Given the description of an element on the screen output the (x, y) to click on. 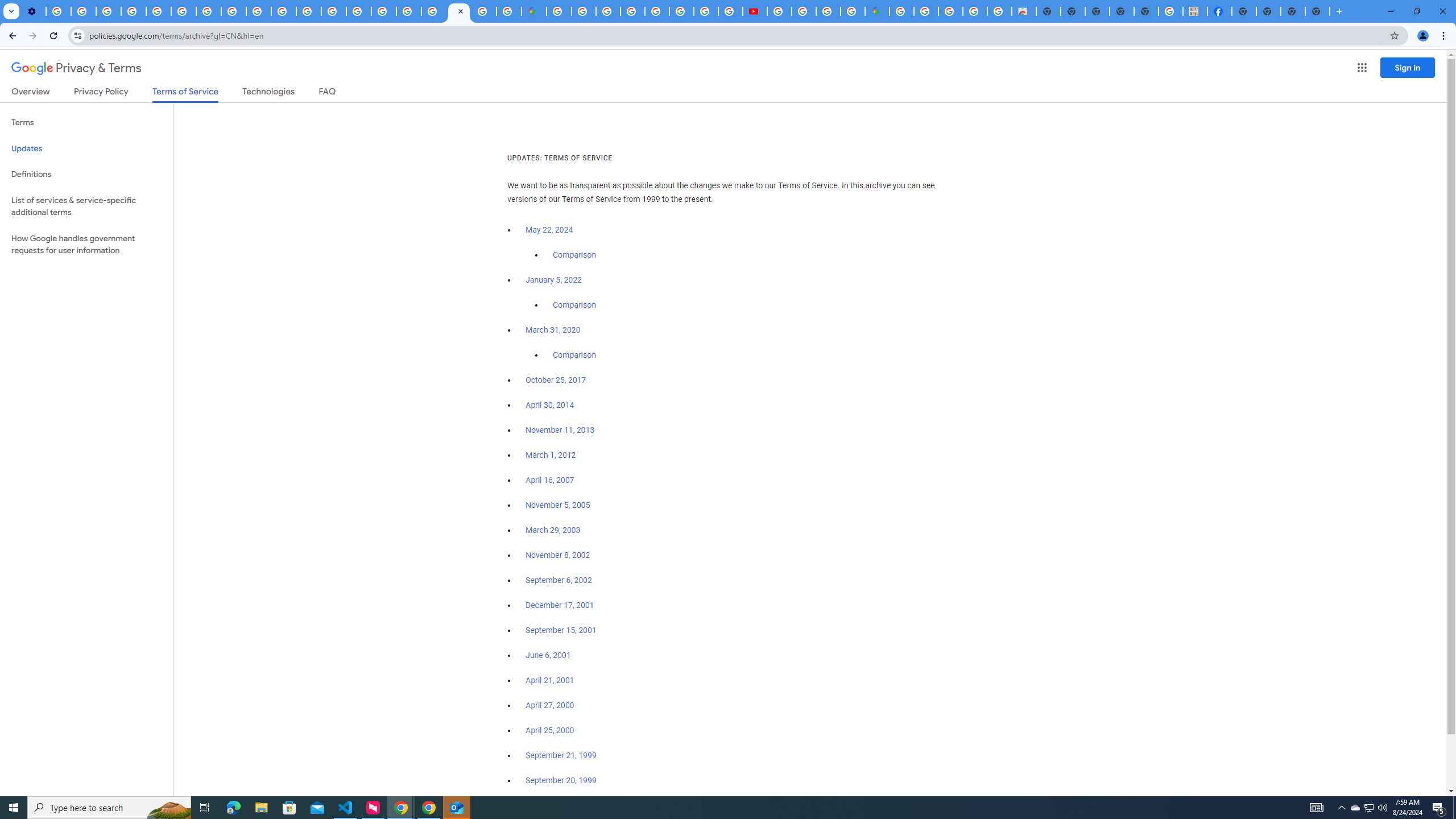
Privacy Help Center - Policies Help (705, 11)
Google Maps (533, 11)
April 30, 2014 (550, 405)
Delete photos & videos - Computer - Google Photos Help (57, 11)
January 5, 2022 (553, 280)
Privacy Help Center - Policies Help (680, 11)
Sign in - Google Accounts (433, 11)
